Given the description of an element on the screen output the (x, y) to click on. 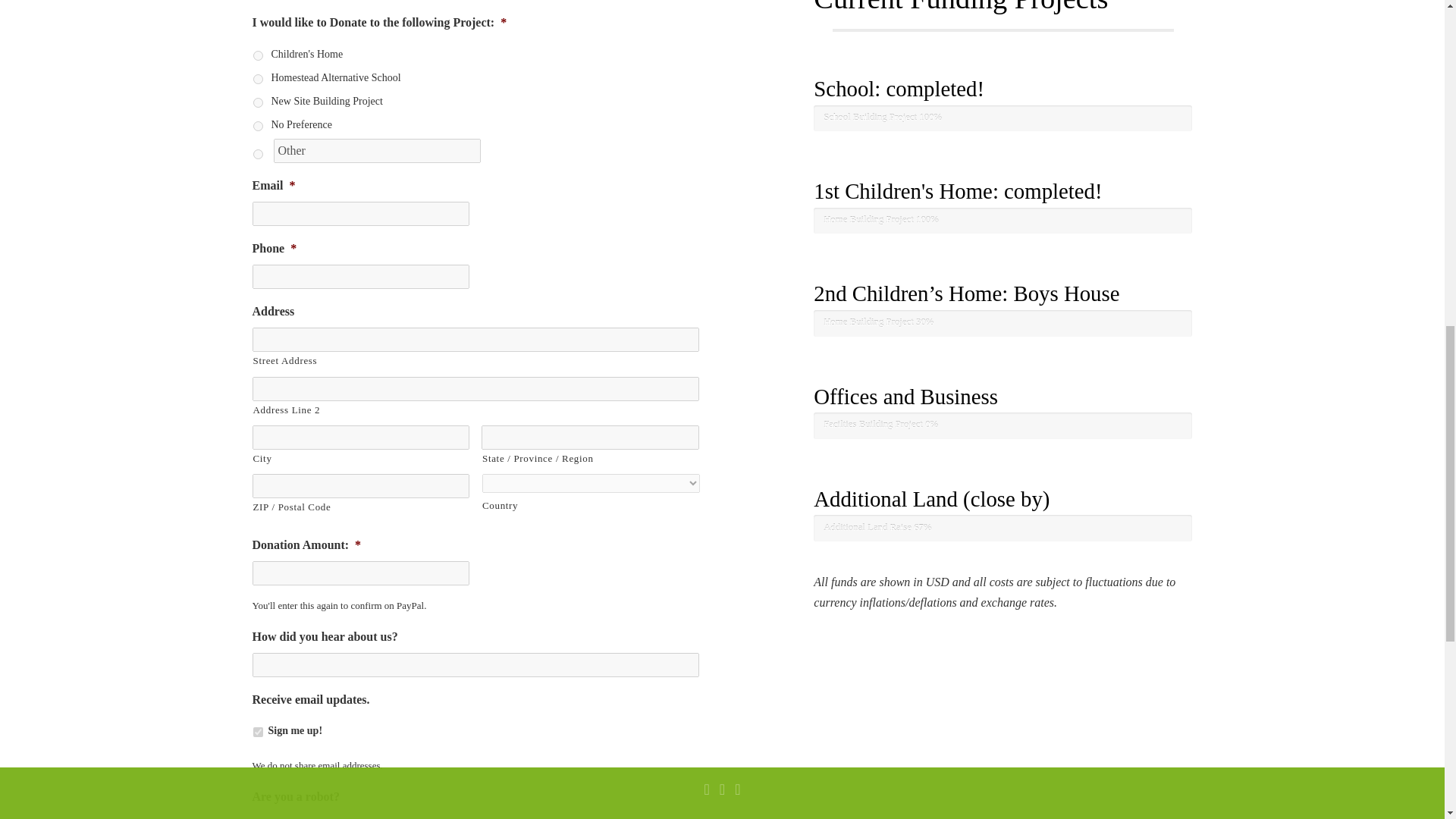
Other (376, 150)
Children's Home (258, 55)
No Preference (258, 126)
New Site Building Project (258, 102)
Sign me up! (258, 732)
Homestead Alternative School (258, 79)
